Given the description of an element on the screen output the (x, y) to click on. 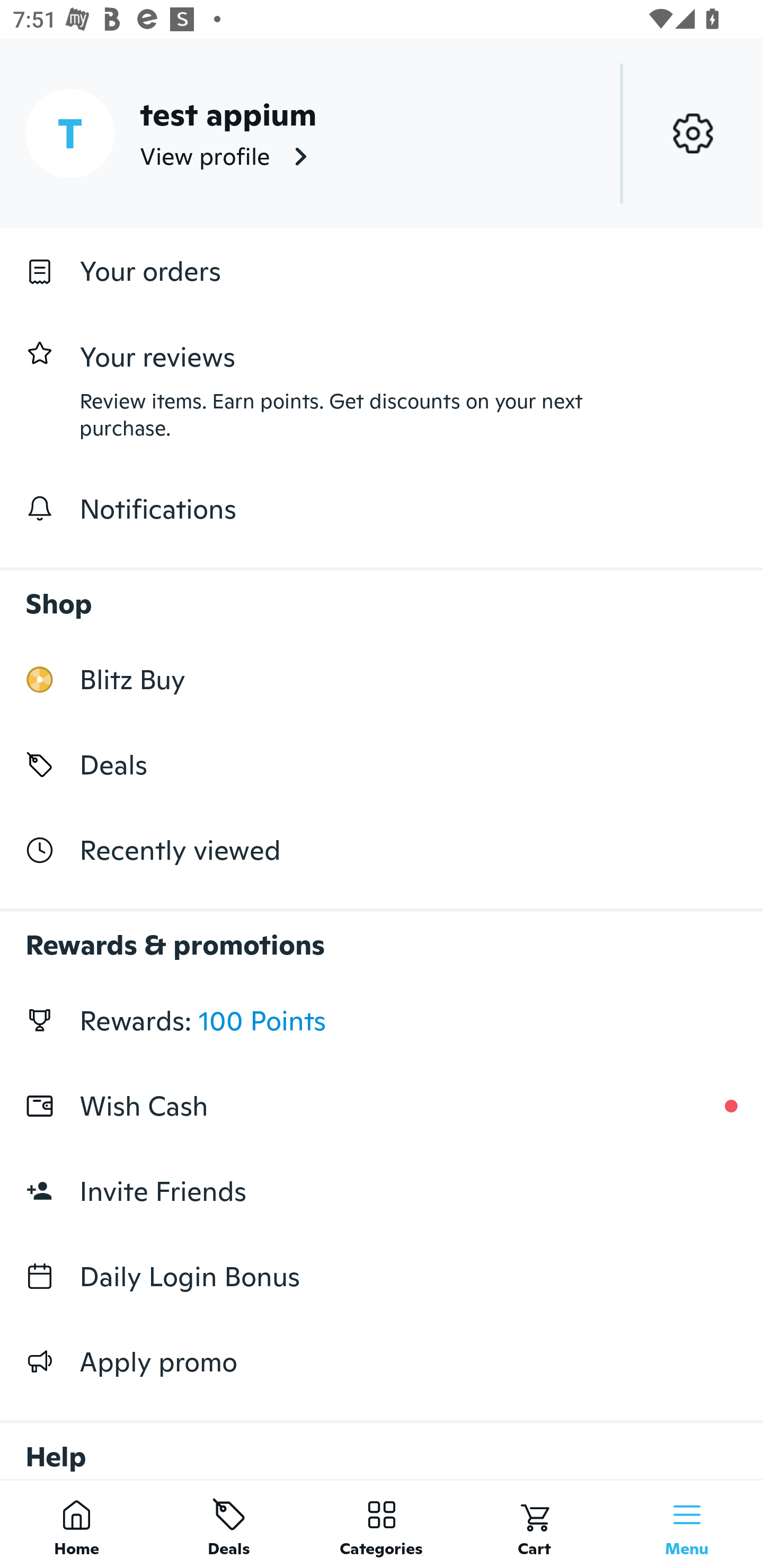
T test appium View profile (381, 132)
Your orders (381, 270)
Notifications (381, 508)
Shop (381, 593)
Blitz Buy (381, 679)
Deals (381, 764)
Recently viewed (381, 850)
Rewards & promotions (381, 935)
Rewards: 100 Points (381, 1020)
Wish Cash (381, 1106)
Invite Friends (381, 1190)
Daily Login Bonus (381, 1277)
Apply promo (381, 1361)
Help (381, 1441)
Home (76, 1523)
Deals (228, 1523)
Categories (381, 1523)
Cart (533, 1523)
Menu (686, 1523)
